Given the description of an element on the screen output the (x, y) to click on. 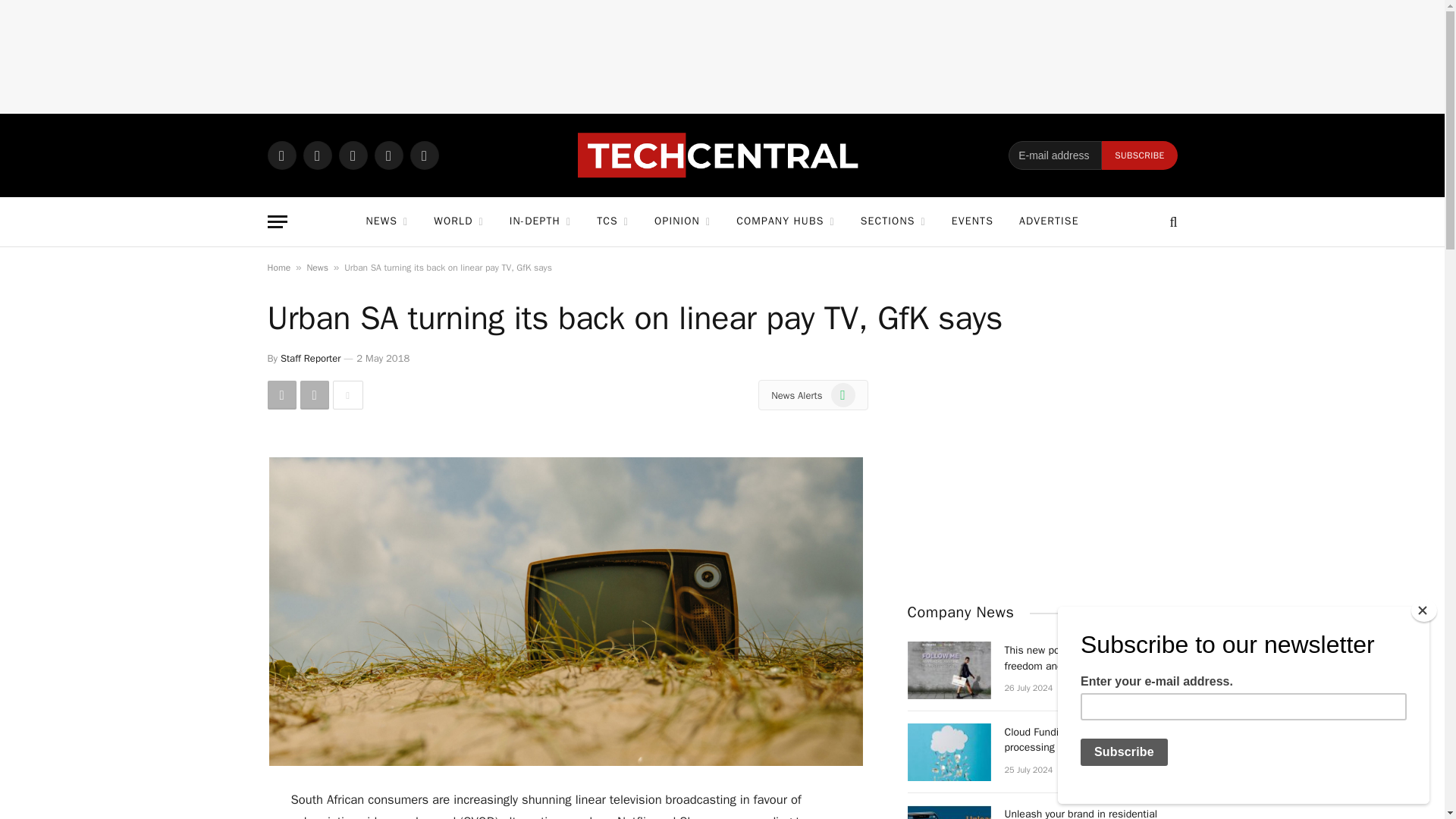
WORLD (458, 221)
3rd party ad content (721, 56)
TechCentral (722, 155)
NEWS (386, 221)
Facebook (316, 154)
LinkedIn (388, 154)
Subscribe (1139, 154)
Subscribe (1139, 154)
WhatsApp (280, 154)
YouTube (423, 154)
IN-DEPTH (539, 221)
